Given the description of an element on the screen output the (x, y) to click on. 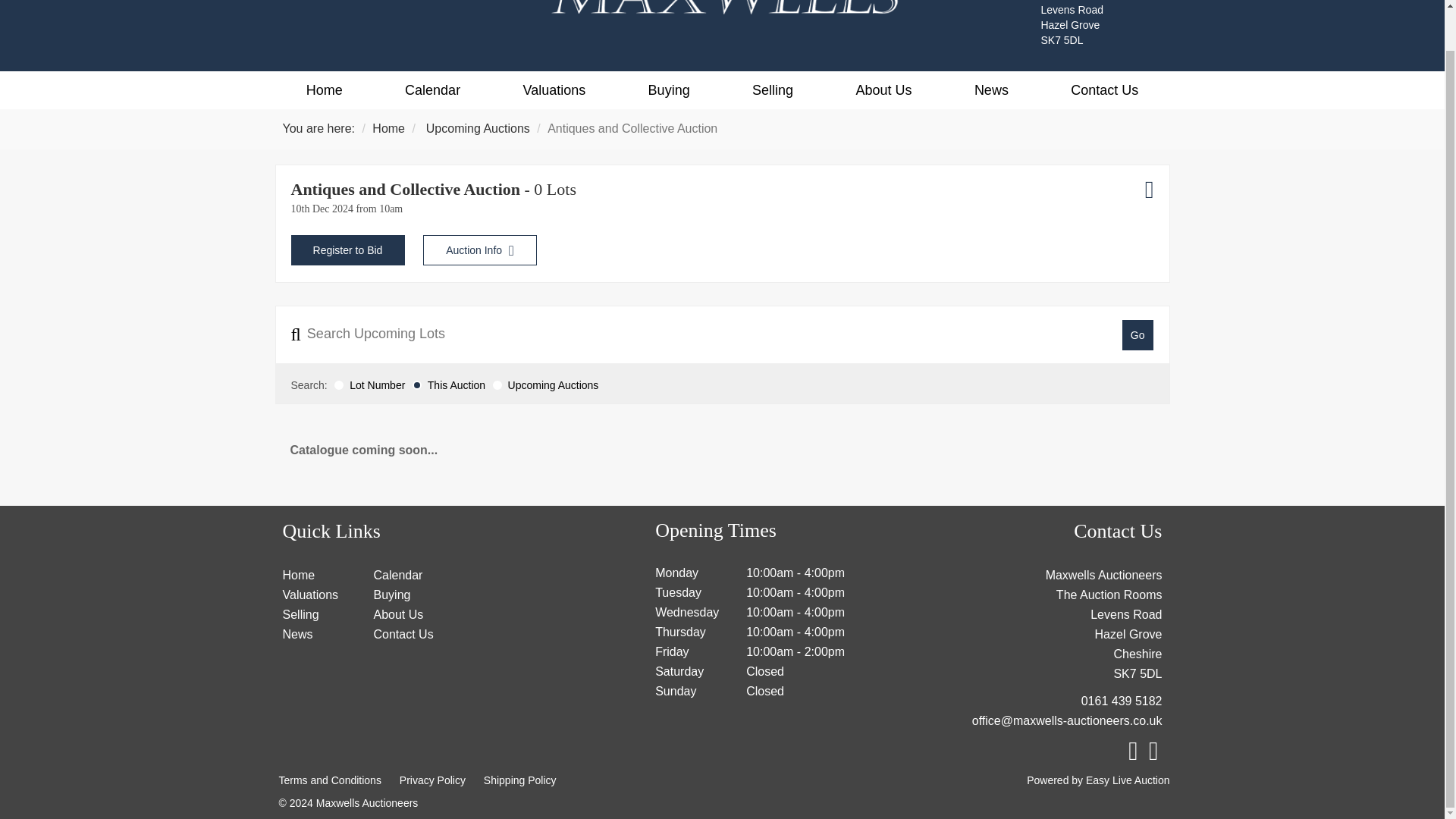
Register to Bid (347, 250)
Home (298, 574)
Upcoming Auctions (477, 128)
News (991, 89)
Buying (667, 89)
Home (388, 128)
Home (323, 89)
Go (1137, 335)
Calendar (433, 89)
Calendar (397, 574)
Selling (772, 89)
About Us (883, 89)
Valuations (553, 89)
Auction Info (480, 250)
Contact Us (1104, 89)
